Given the description of an element on the screen output the (x, y) to click on. 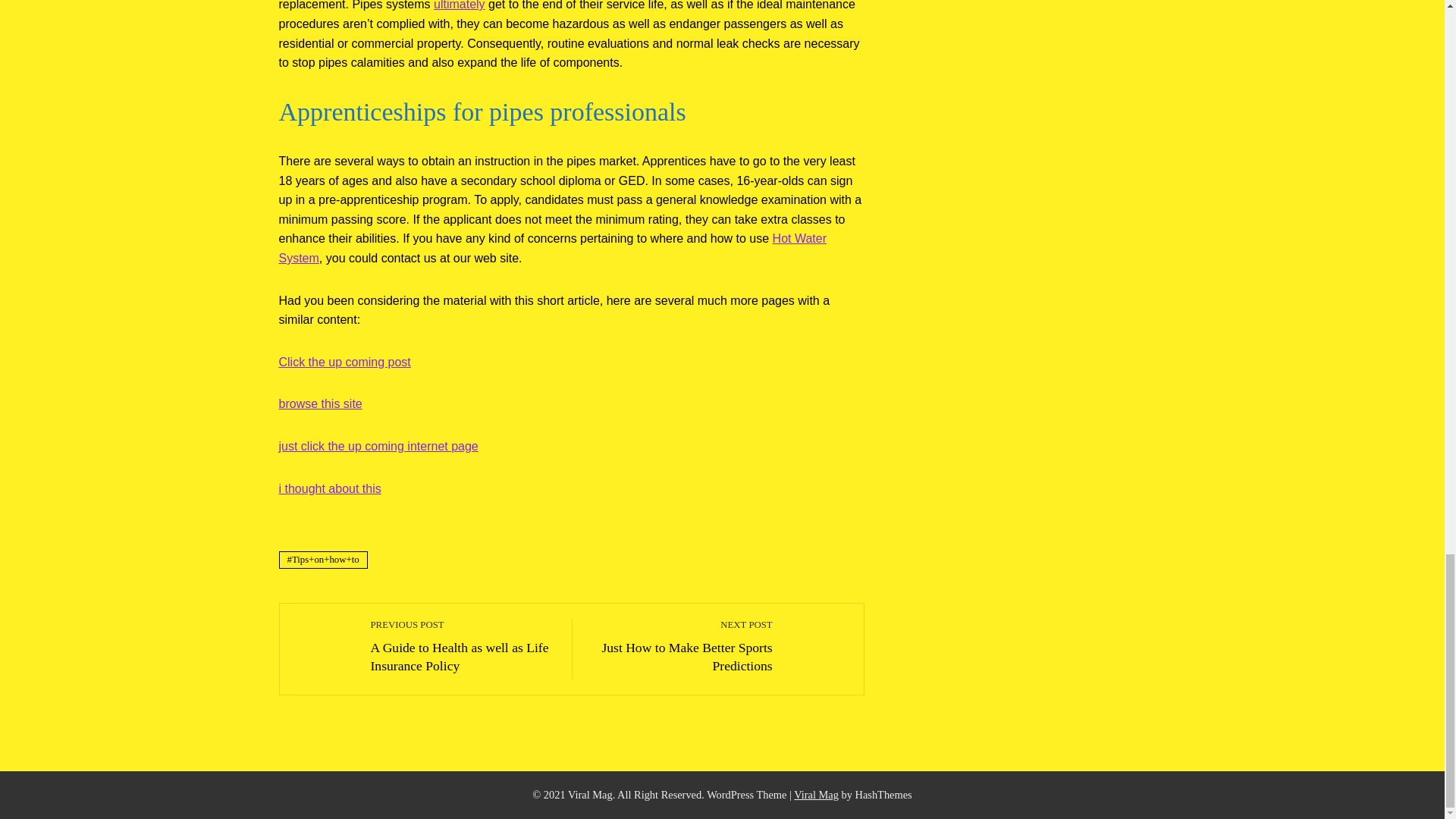
just click the up coming internet page (379, 445)
Click the up coming post (344, 361)
i thought about this (330, 488)
browse this site (320, 403)
Hot Water System (553, 247)
ultimately (458, 5)
Download Viral News (815, 794)
